Given the description of an element on the screen output the (x, y) to click on. 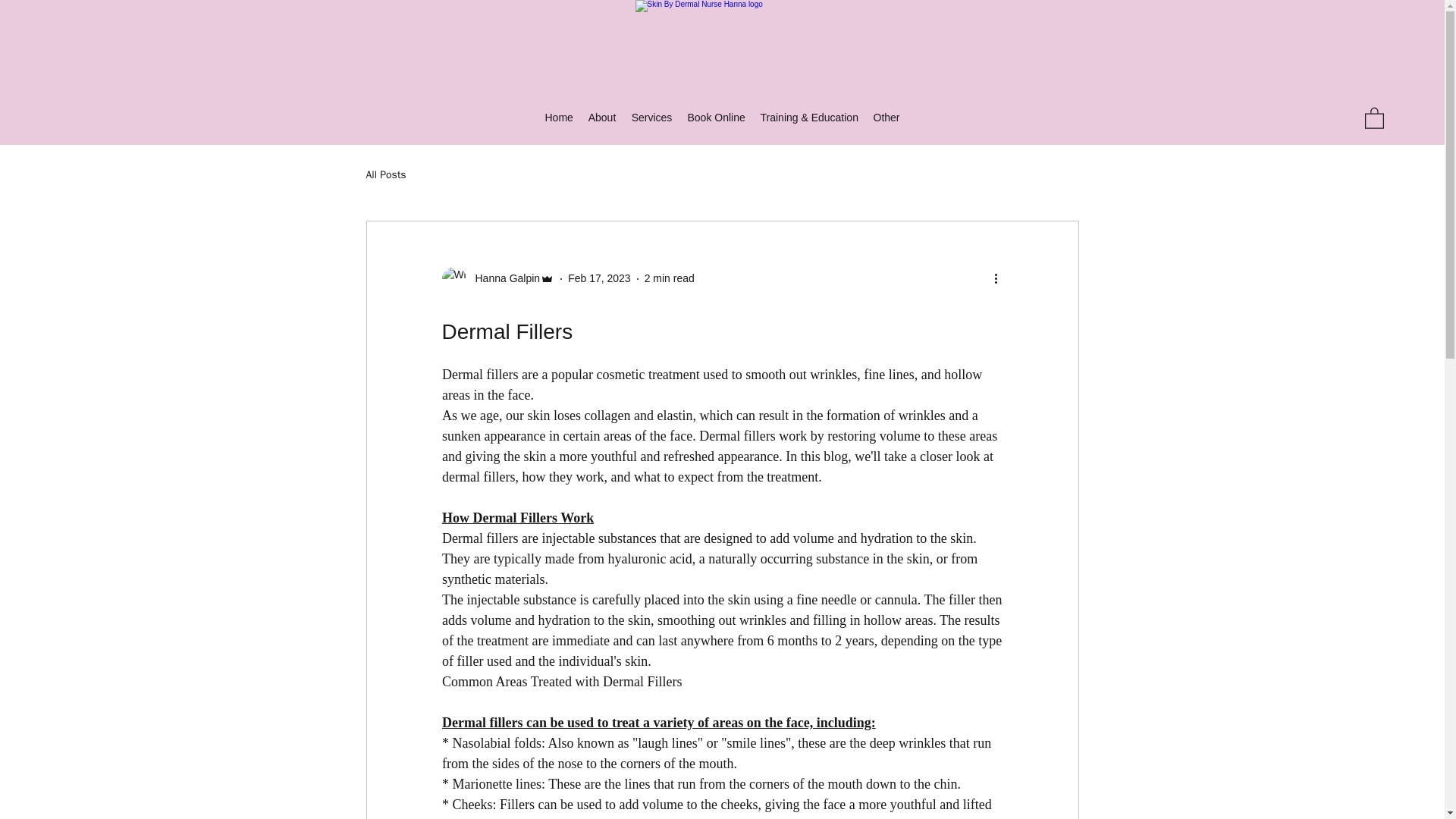
Feb 17, 2023 (598, 277)
Book Online (715, 117)
About (602, 117)
All Posts (385, 174)
Hanna Galpin (497, 278)
Hanna Galpin (502, 278)
Services (651, 117)
Home (558, 117)
2 min read (669, 277)
